Given the description of an element on the screen output the (x, y) to click on. 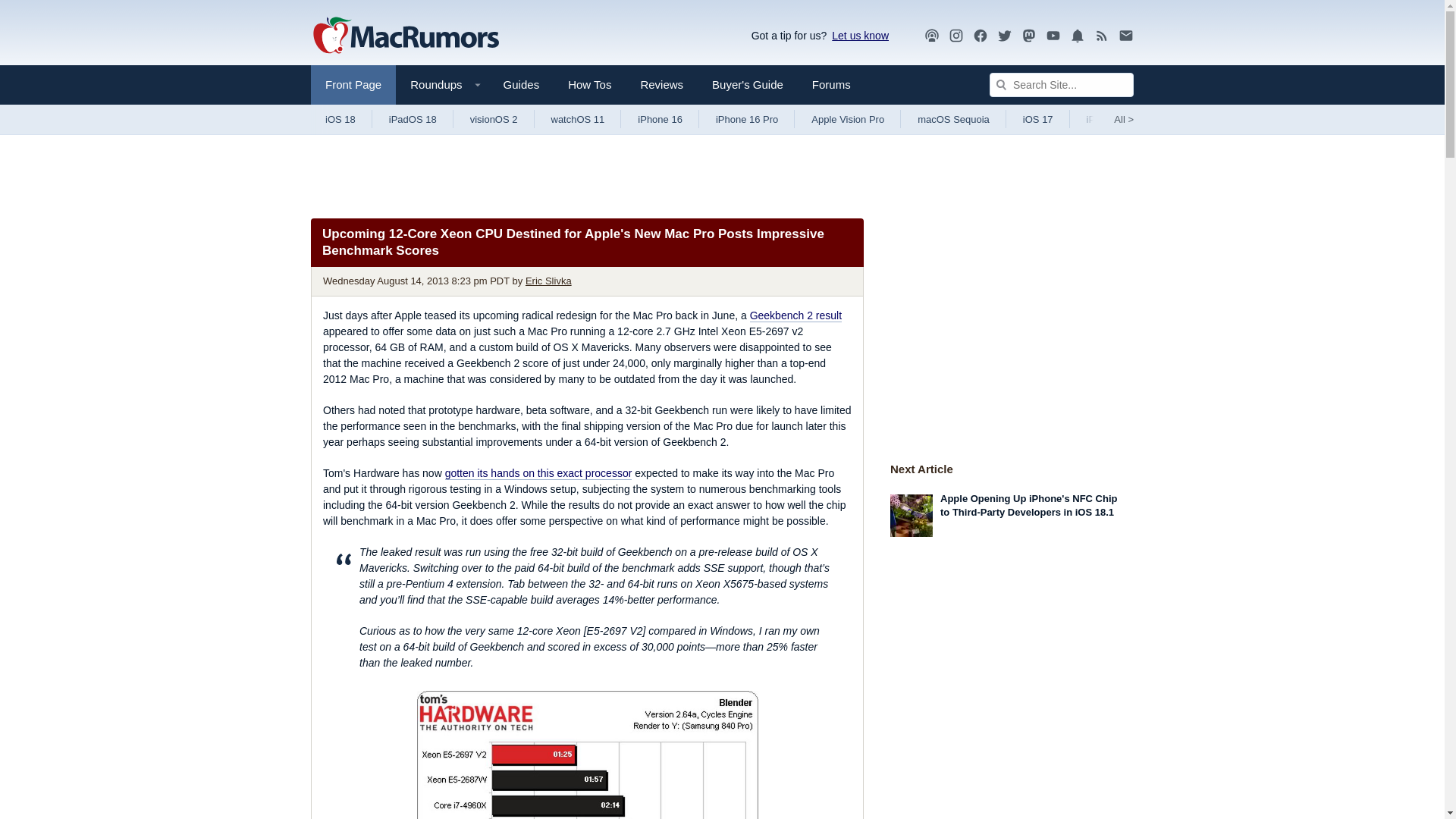
Twitter (1004, 35)
Buyer's Guide (747, 84)
Front (353, 84)
MacRumors on Mastodon (1029, 35)
Roundups (441, 84)
Newsletter (1126, 35)
Apple, Mac, iPhone, iPad News and Rumors (405, 36)
Mastodon (1029, 35)
Facebook (980, 35)
Notifications (1077, 35)
